Given the description of an element on the screen output the (x, y) to click on. 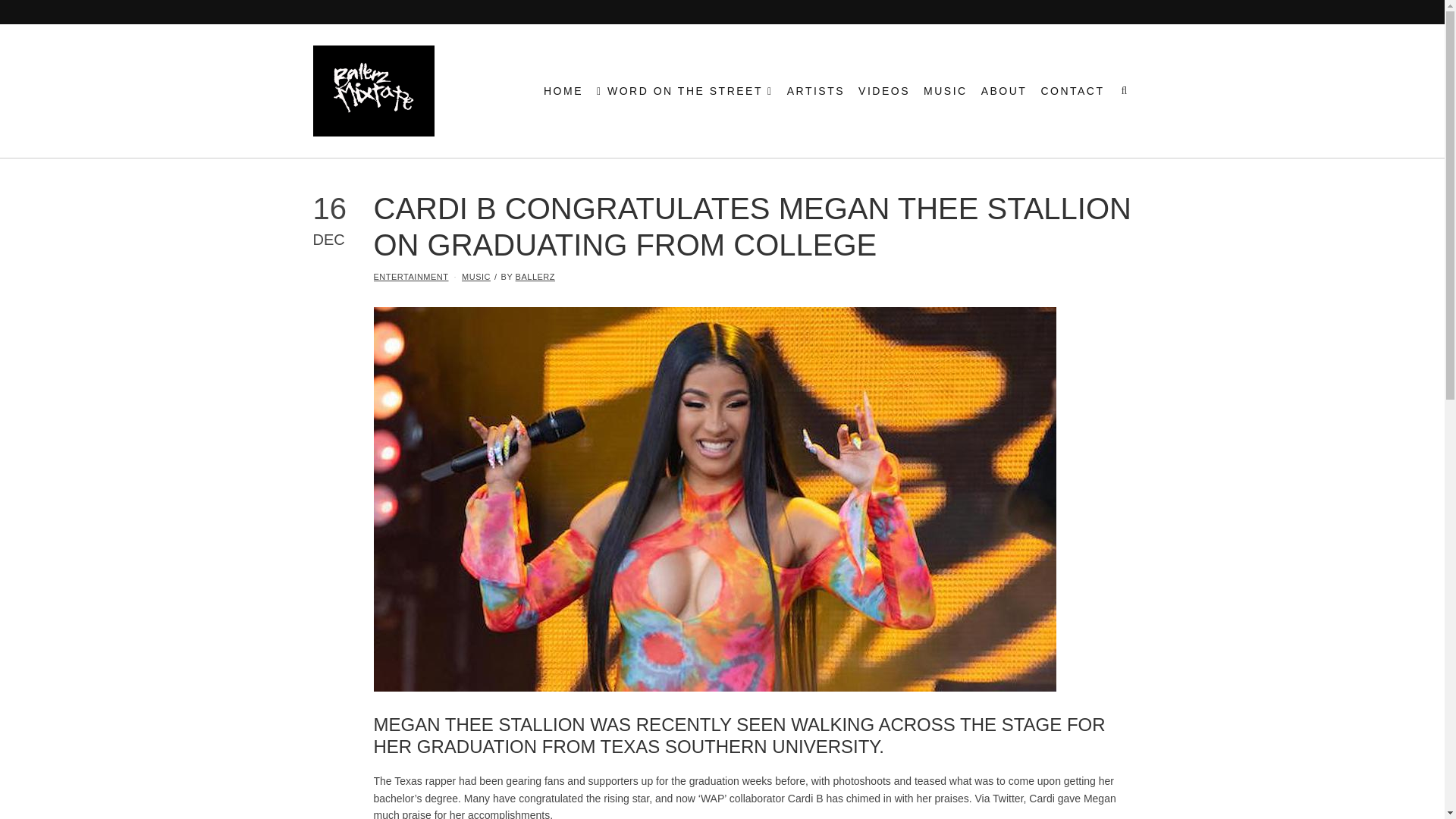
HOME (563, 90)
BALLERZ (534, 276)
December 16, 2021 (342, 219)
MUSIC (475, 276)
VIDEOS (884, 90)
ENTERTAINMENT (410, 276)
ARTISTS (815, 90)
CONTACT (1072, 90)
ABOUT (1004, 90)
MUSIC (945, 90)
